Given the description of an element on the screen output the (x, y) to click on. 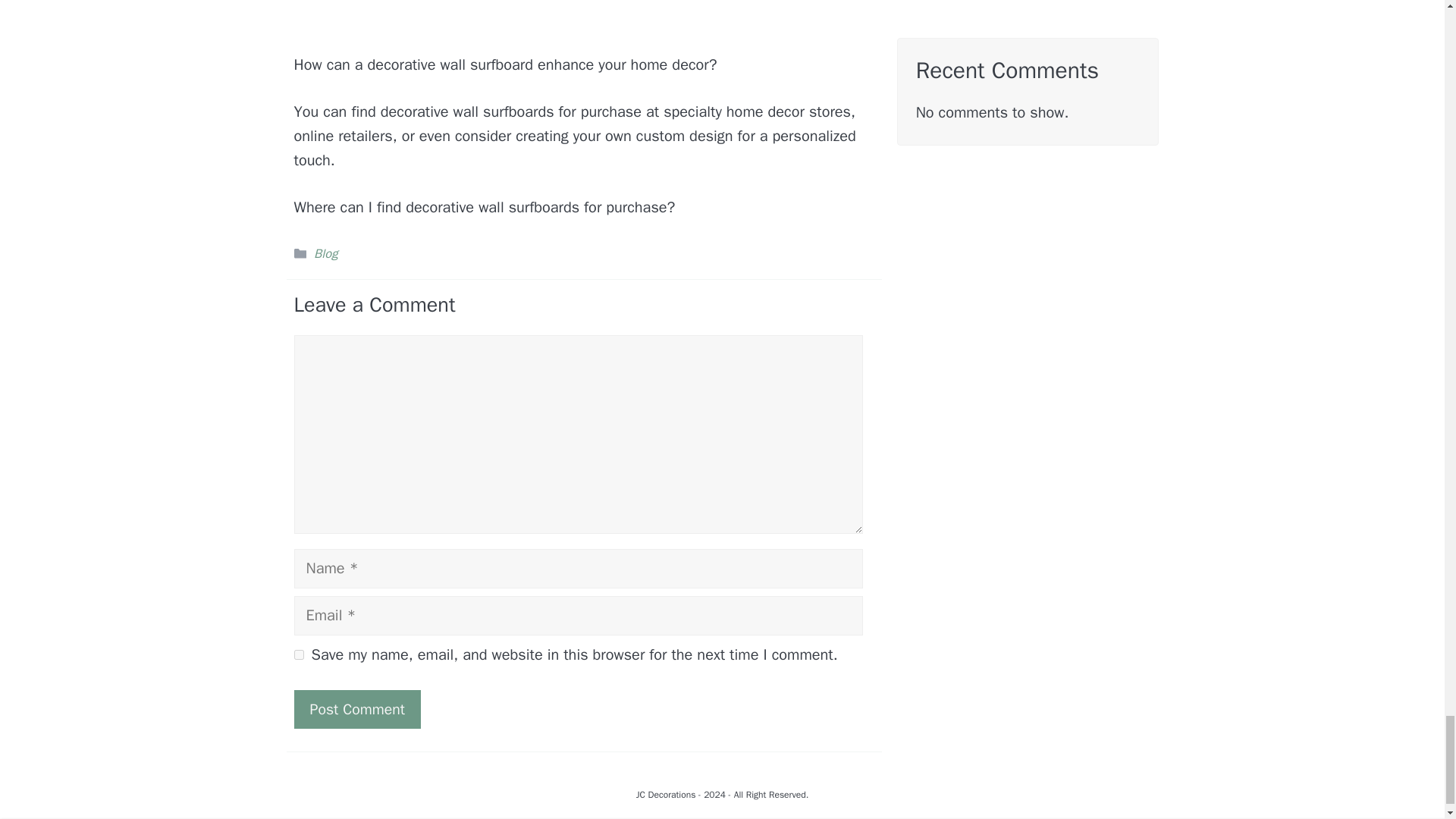
Post Comment (357, 709)
Blog (325, 253)
yes (299, 655)
Post Comment (357, 709)
